Given the description of an element on the screen output the (x, y) to click on. 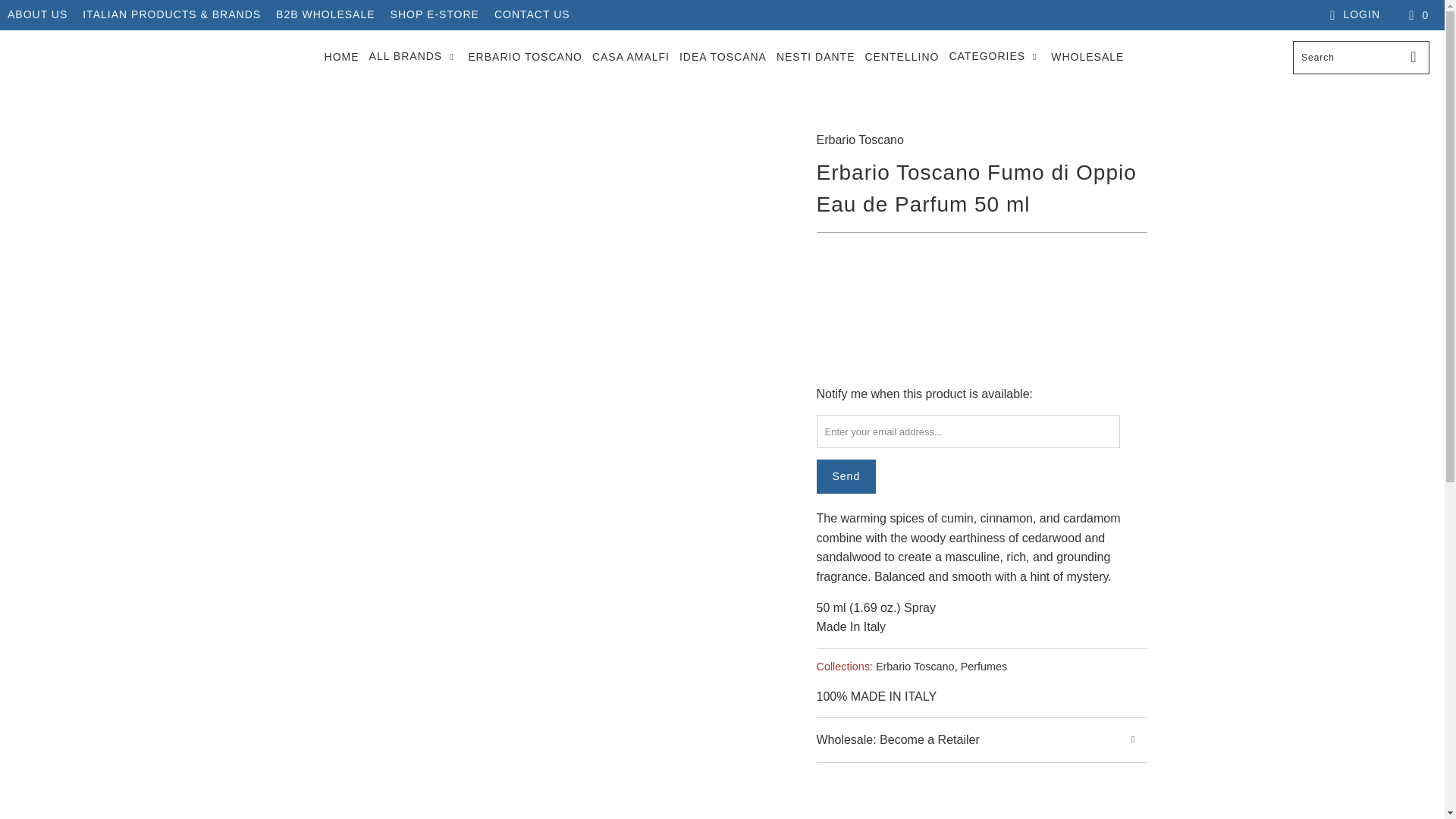
Send (845, 476)
Perfumes (983, 666)
Erbario Toscano (915, 666)
SHOP E-STORE (434, 14)
ABOUT US (36, 14)
B2B WHOLESALE (325, 14)
My Account  (1352, 14)
LOGIN (1352, 14)
CONTACT US (532, 14)
